Given the description of an element on the screen output the (x, y) to click on. 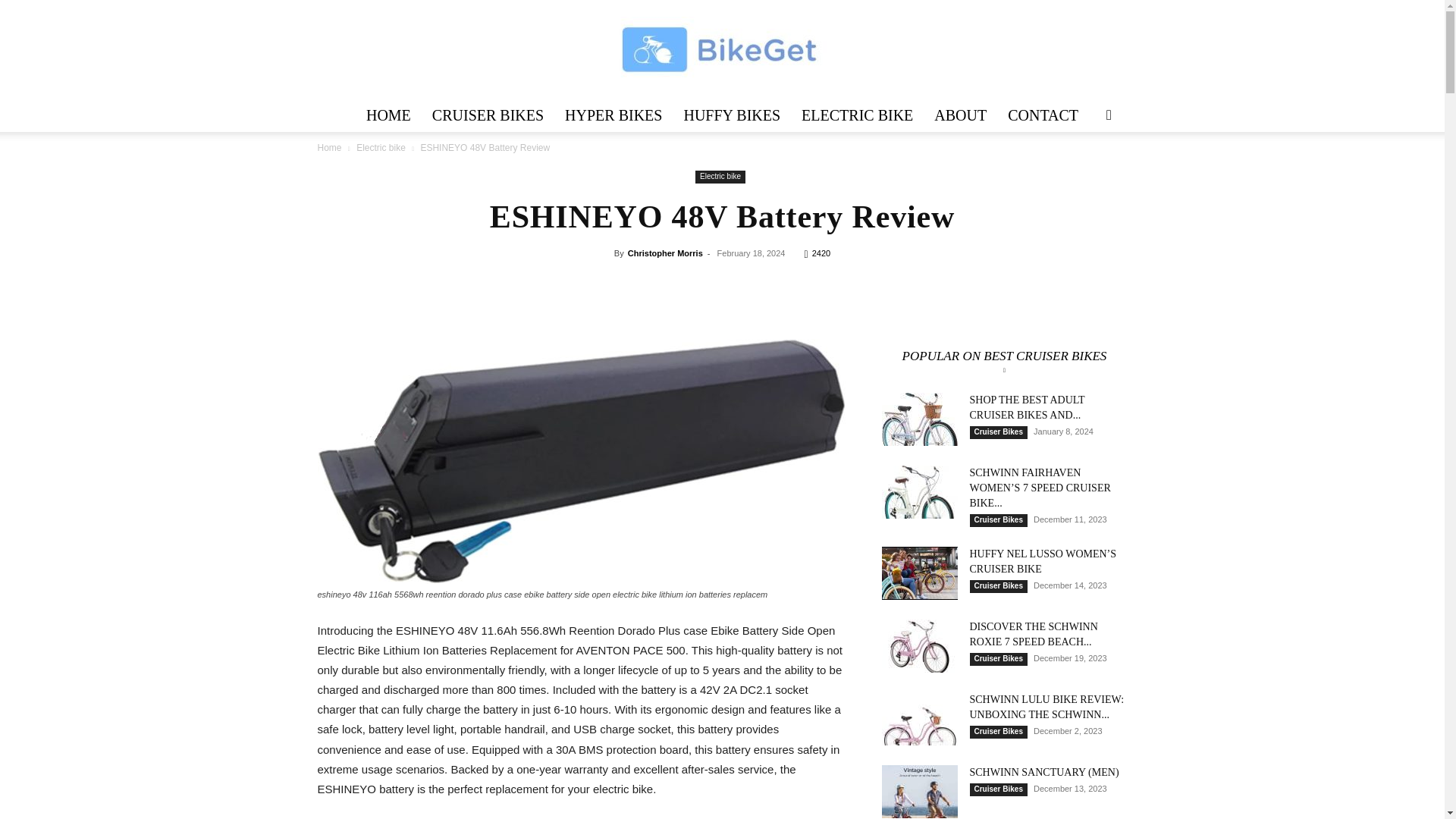
HOME (388, 114)
Christopher Morris (665, 252)
Search (1085, 174)
ABOUT (960, 114)
CONTACT (1043, 114)
HYPER BIKES (613, 114)
CRUISER BIKES (488, 114)
ELECTRIC BIKE (856, 114)
HUFFY BIKES (731, 114)
Home (328, 147)
